Given the description of an element on the screen output the (x, y) to click on. 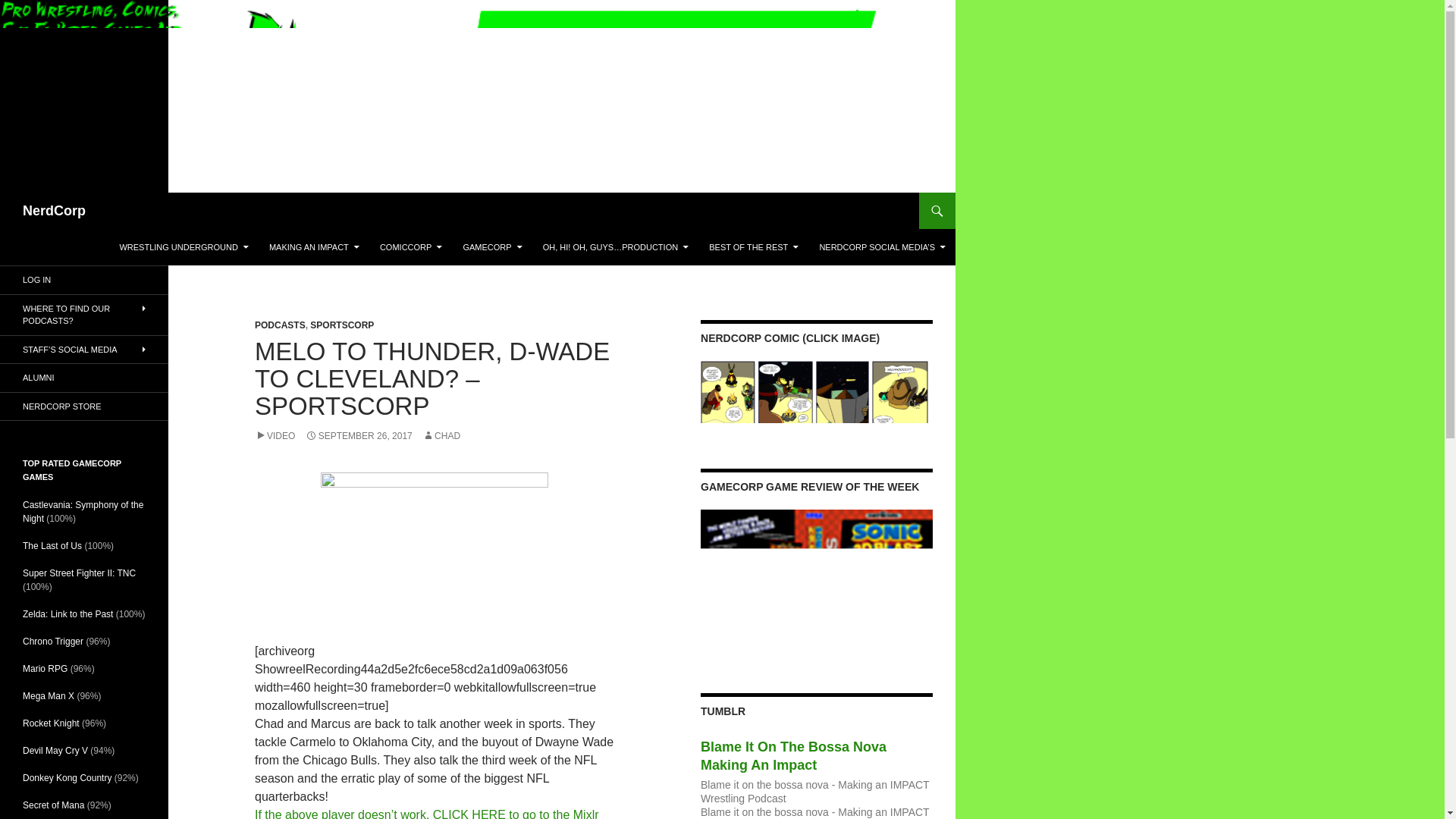
GameCorp Score of the Week (816, 582)
GAMECORP (491, 247)
NerdCorp (54, 210)
WRESTLING UNDERGROUND (183, 247)
COMICCORP (411, 247)
MAKING AN IMPACT (314, 247)
